Given the description of an element on the screen output the (x, y) to click on. 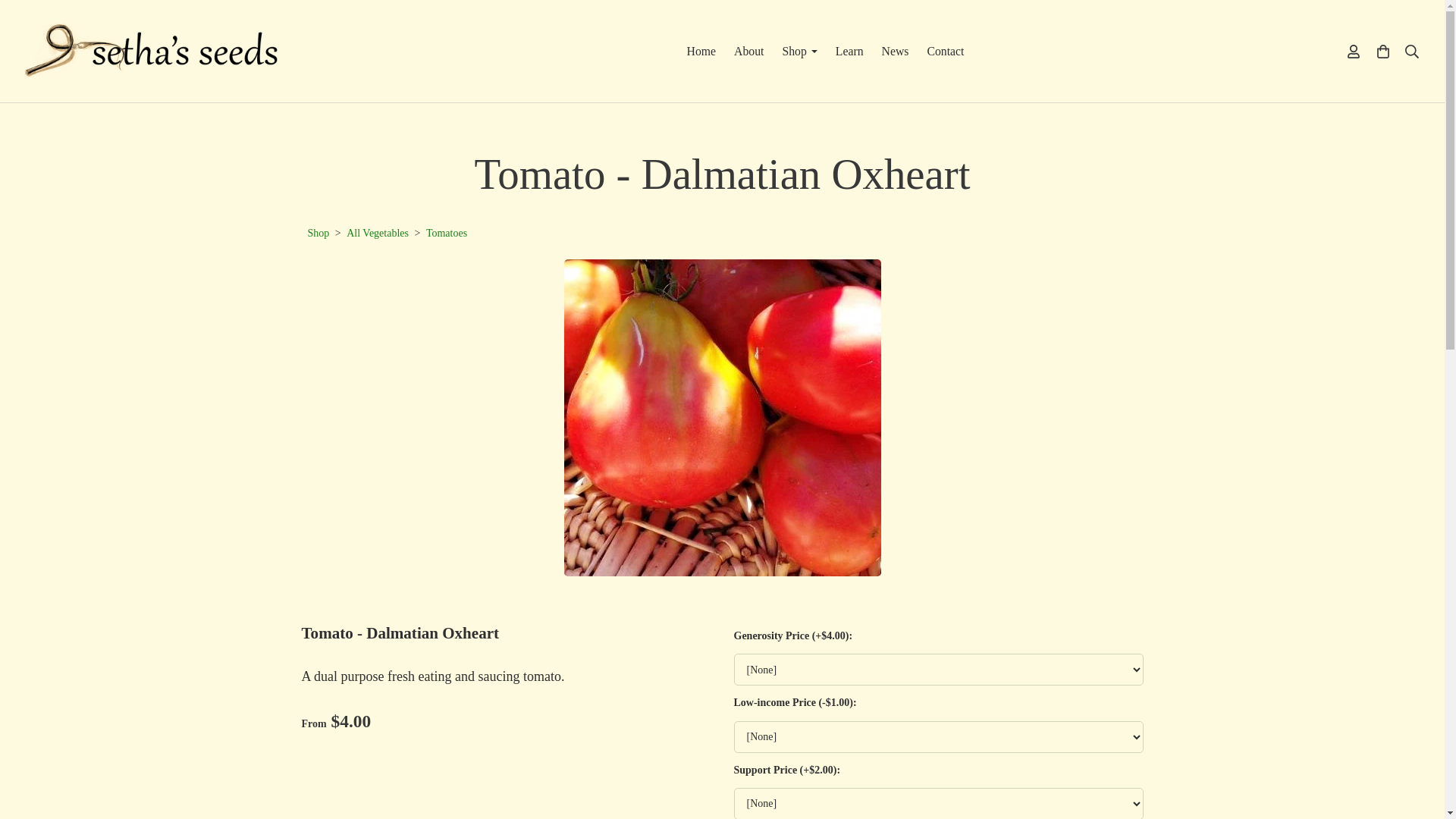
About (749, 50)
All Vegetables (377, 233)
Learn (849, 50)
Low-income Price (937, 736)
Support Price (937, 803)
Shop (799, 50)
News (895, 50)
Contact (944, 50)
Shop (318, 233)
Generosity Price (937, 669)
